Given the description of an element on the screen output the (x, y) to click on. 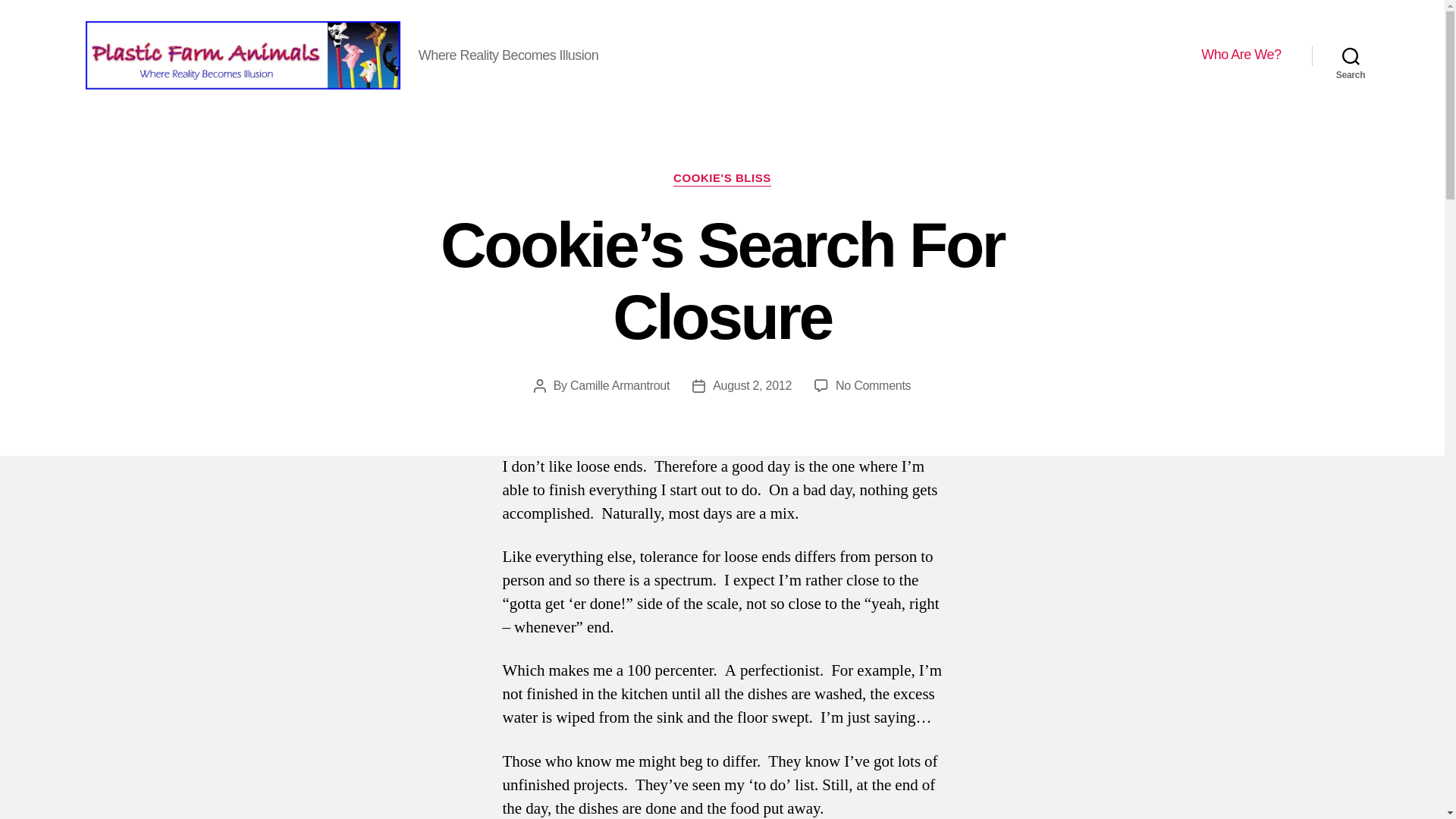
Who Are We? (1241, 54)
Search (1350, 55)
Camille Armantrout (619, 385)
COOKIE'S BLISS (721, 178)
August 2, 2012 (752, 385)
